Given the description of an element on the screen output the (x, y) to click on. 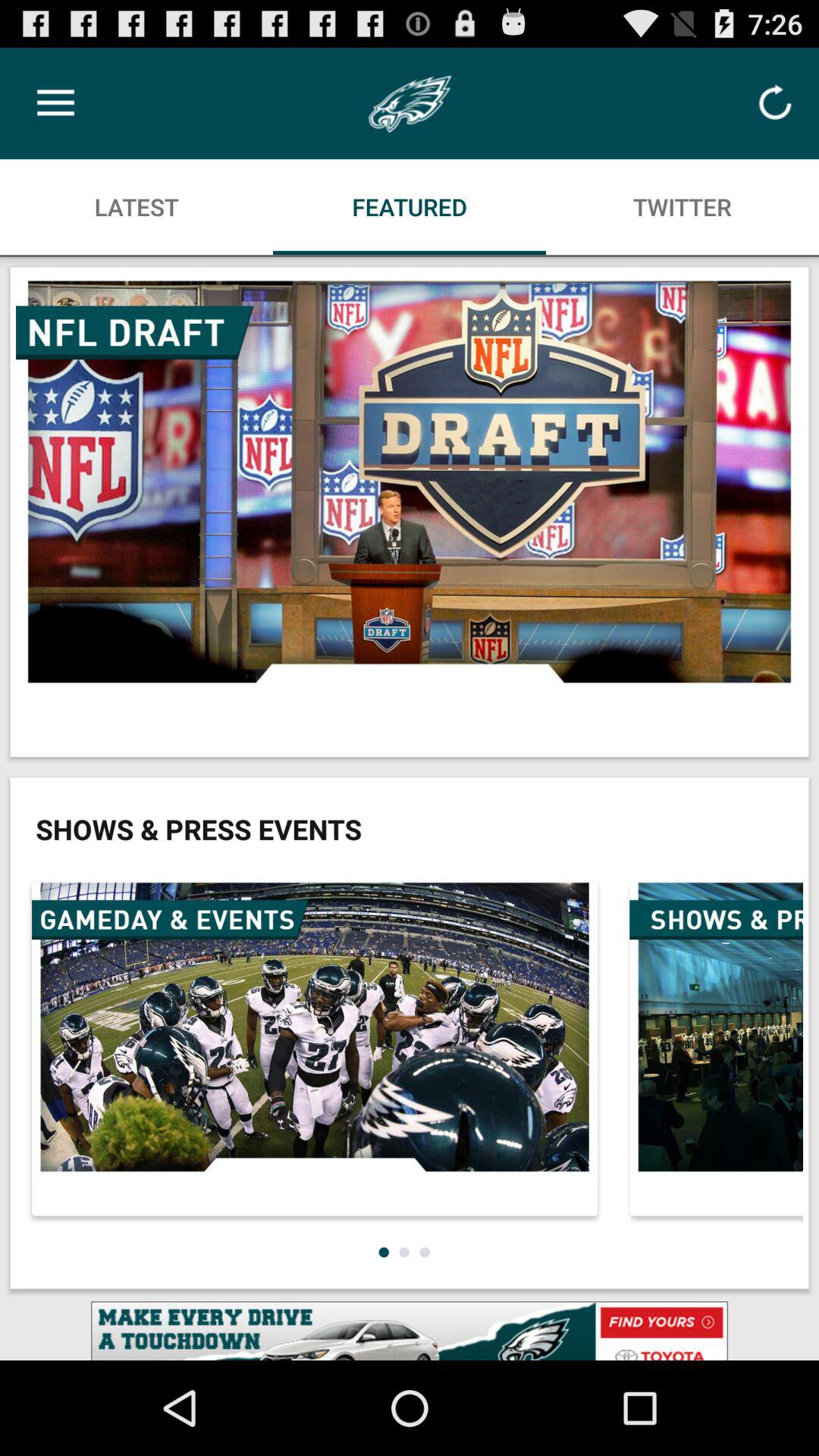
tap the item above latest icon (55, 103)
